Given the description of an element on the screen output the (x, y) to click on. 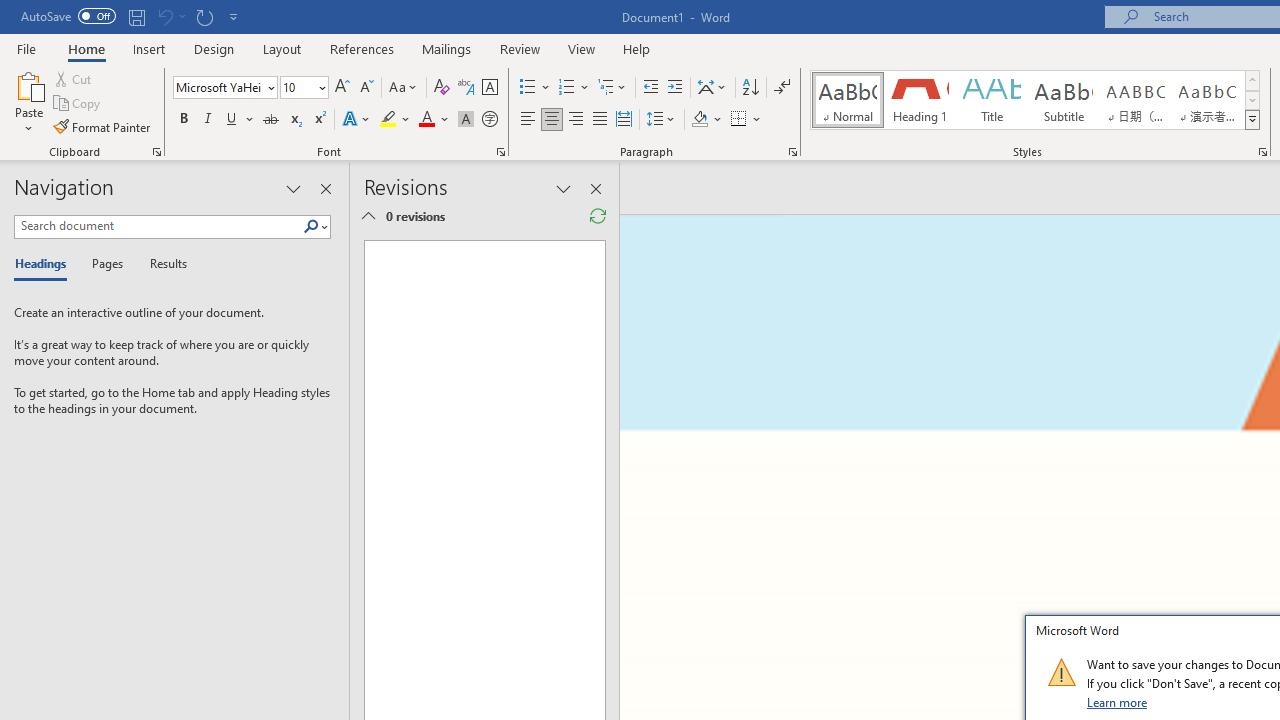
Font Color Red (426, 119)
